Given the description of an element on the screen output the (x, y) to click on. 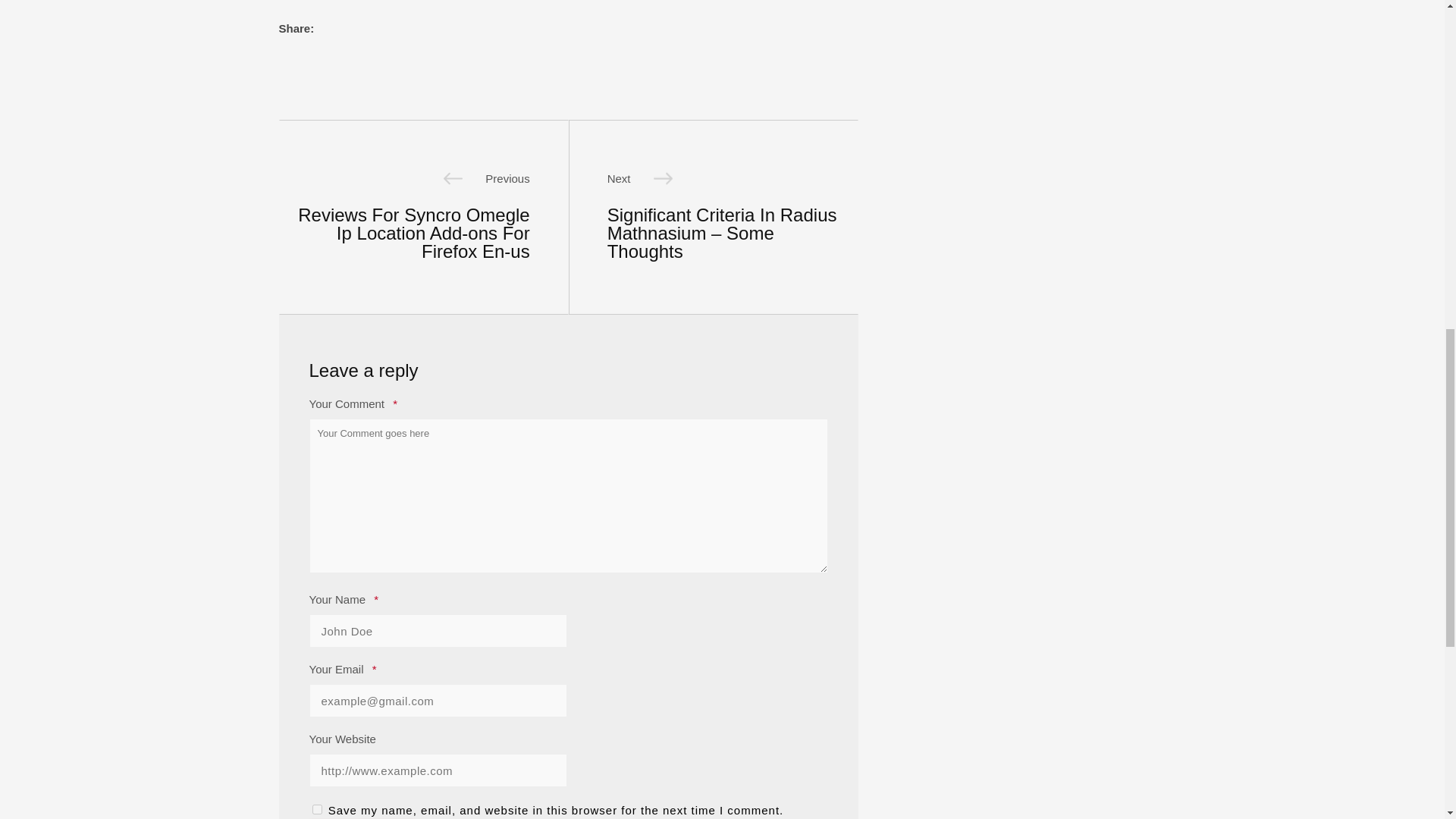
yes (317, 809)
